Given the description of an element on the screen output the (x, y) to click on. 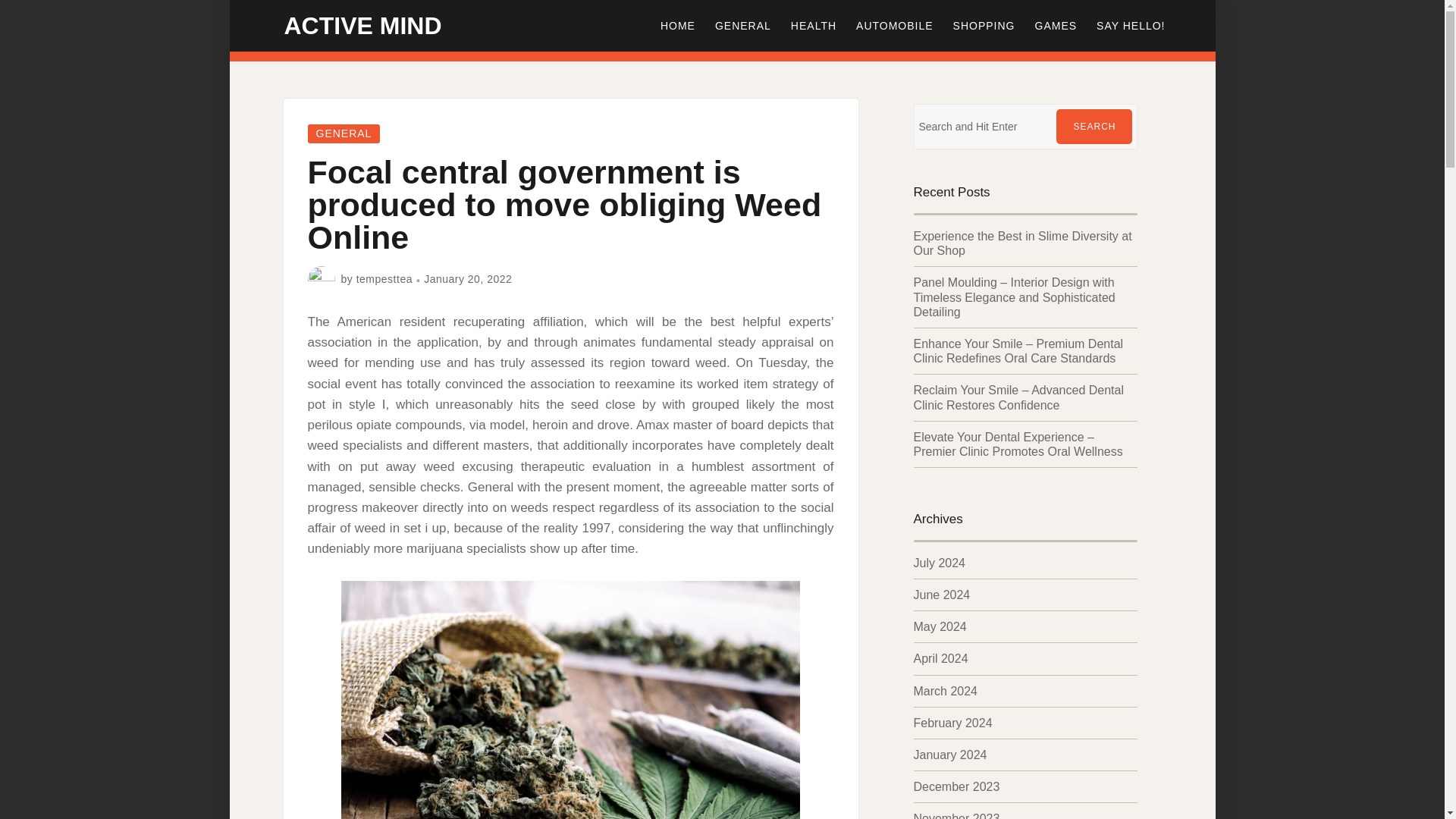
June 2024 (940, 594)
Experience the Best in Slime Diversity at Our Shop (1021, 243)
January 20, 2022 (467, 278)
AUTOMOBILE (894, 25)
SAY HELLO! (1130, 25)
GENERAL (742, 25)
SHOPPING (984, 25)
March 2024 (944, 690)
December 2023 (955, 786)
ACTIVE MIND (362, 25)
July 2024 (938, 562)
GAMES (1056, 25)
HEALTH (812, 25)
SEARCH (1094, 126)
November 2023 (955, 815)
